Given the description of an element on the screen output the (x, y) to click on. 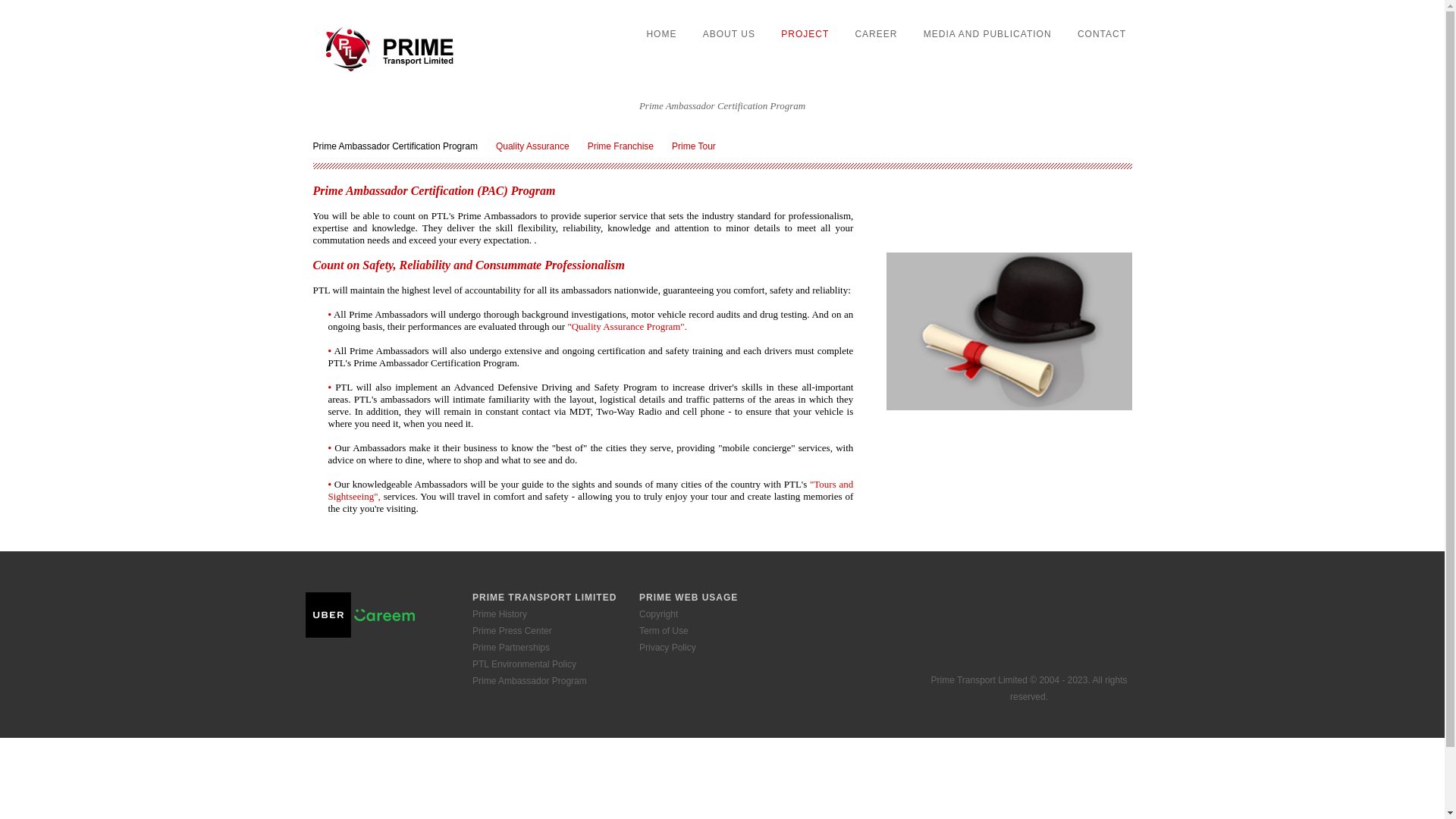
PTL Environmental Policy (523, 664)
Prime Ambassador Program (528, 680)
Prime History (499, 614)
Term of Use (663, 630)
Copyright (658, 614)
Privacy Policy (667, 647)
Prime Partnerships (510, 647)
Prime Press Center (511, 630)
